Given the description of an element on the screen output the (x, y) to click on. 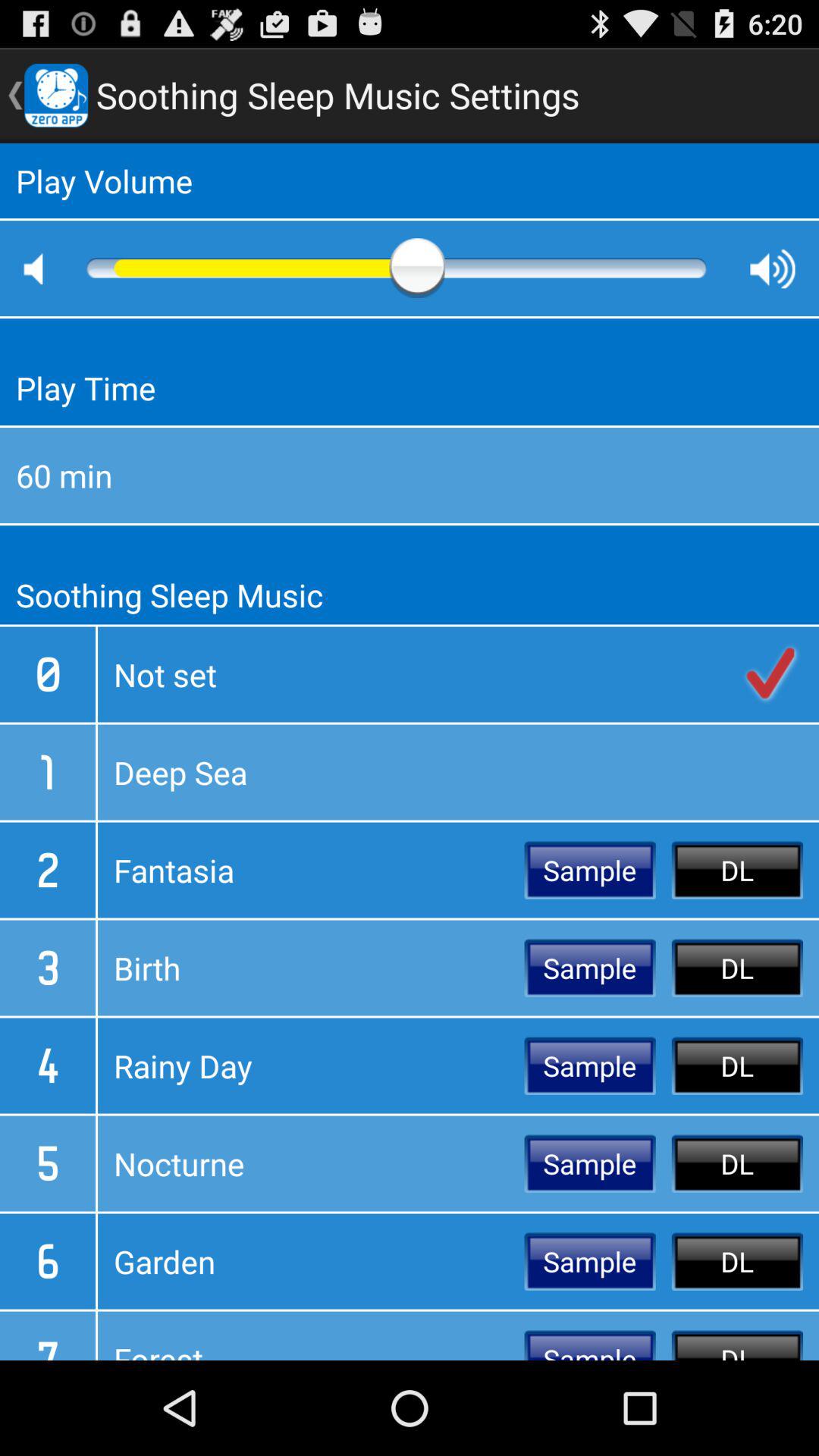
flip to the rainy day icon (310, 1065)
